Given the description of an element on the screen output the (x, y) to click on. 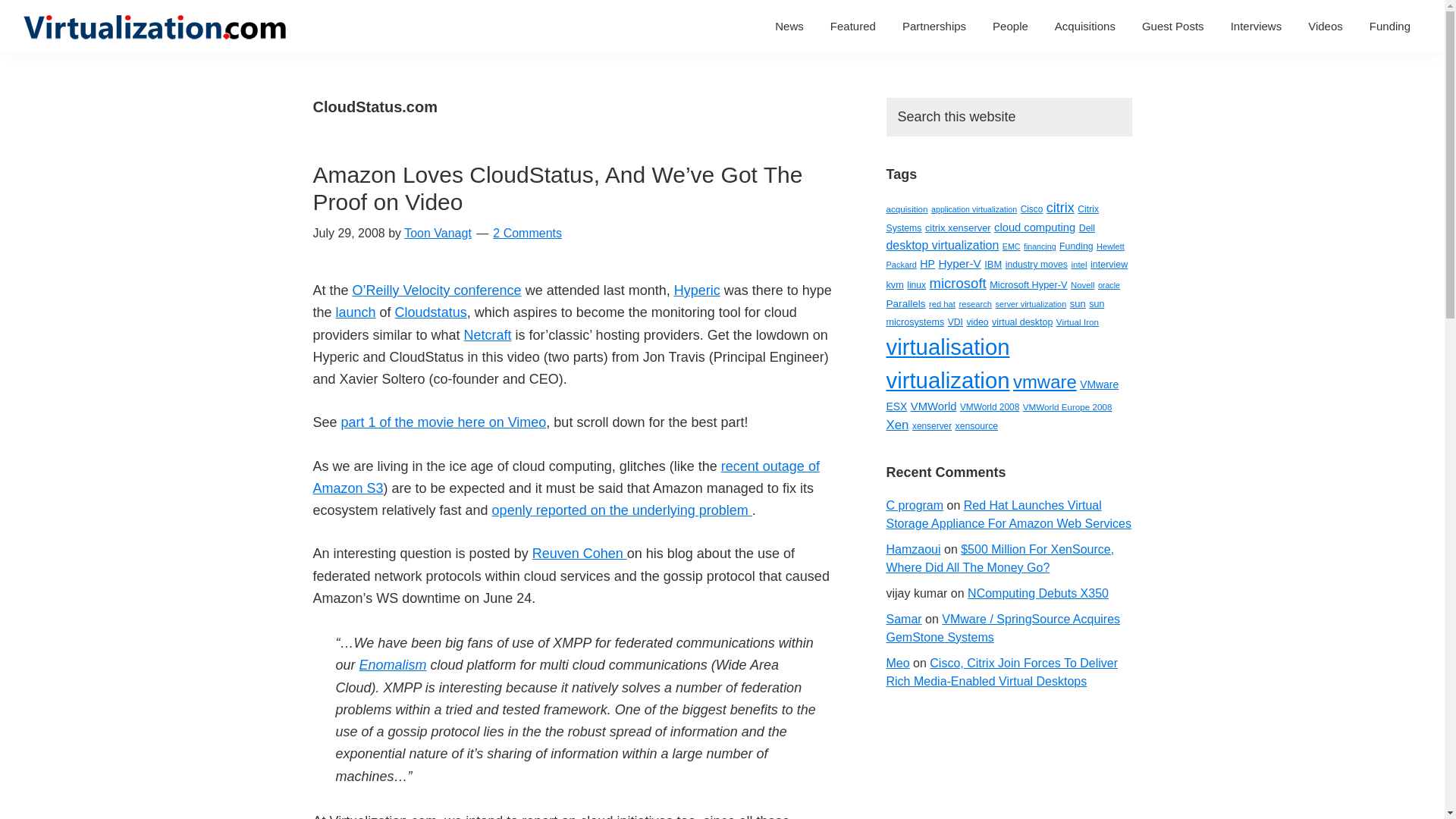
Cloudstatus.com homepage (430, 312)
People (1010, 25)
Amazon explains what went wrong on June 24 (622, 509)
Toon Vanagt (437, 232)
Funding (1390, 25)
Partnerships (933, 25)
News (788, 25)
Featured (852, 25)
Netcraft (488, 335)
Reuven Cohen (579, 553)
